Given the description of an element on the screen output the (x, y) to click on. 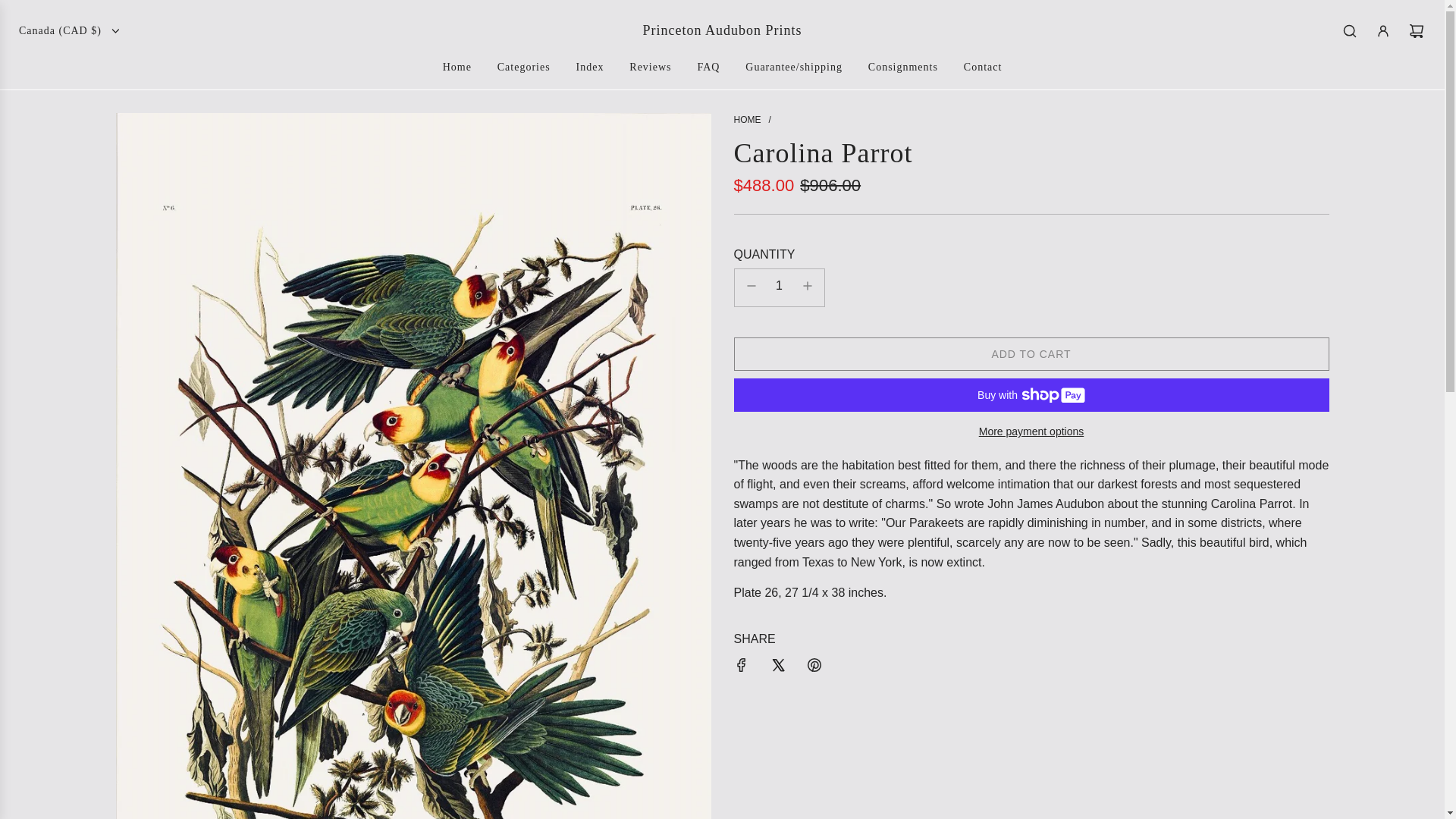
Contact (982, 66)
Home (456, 66)
FAQ (707, 66)
HOME (747, 119)
Reviews (649, 66)
Consignments (903, 66)
Back to the frontpage (747, 119)
Categories (524, 66)
More payment options (1031, 431)
Princeton Audubon Prints (722, 30)
Index (1031, 354)
